Given the description of an element on the screen output the (x, y) to click on. 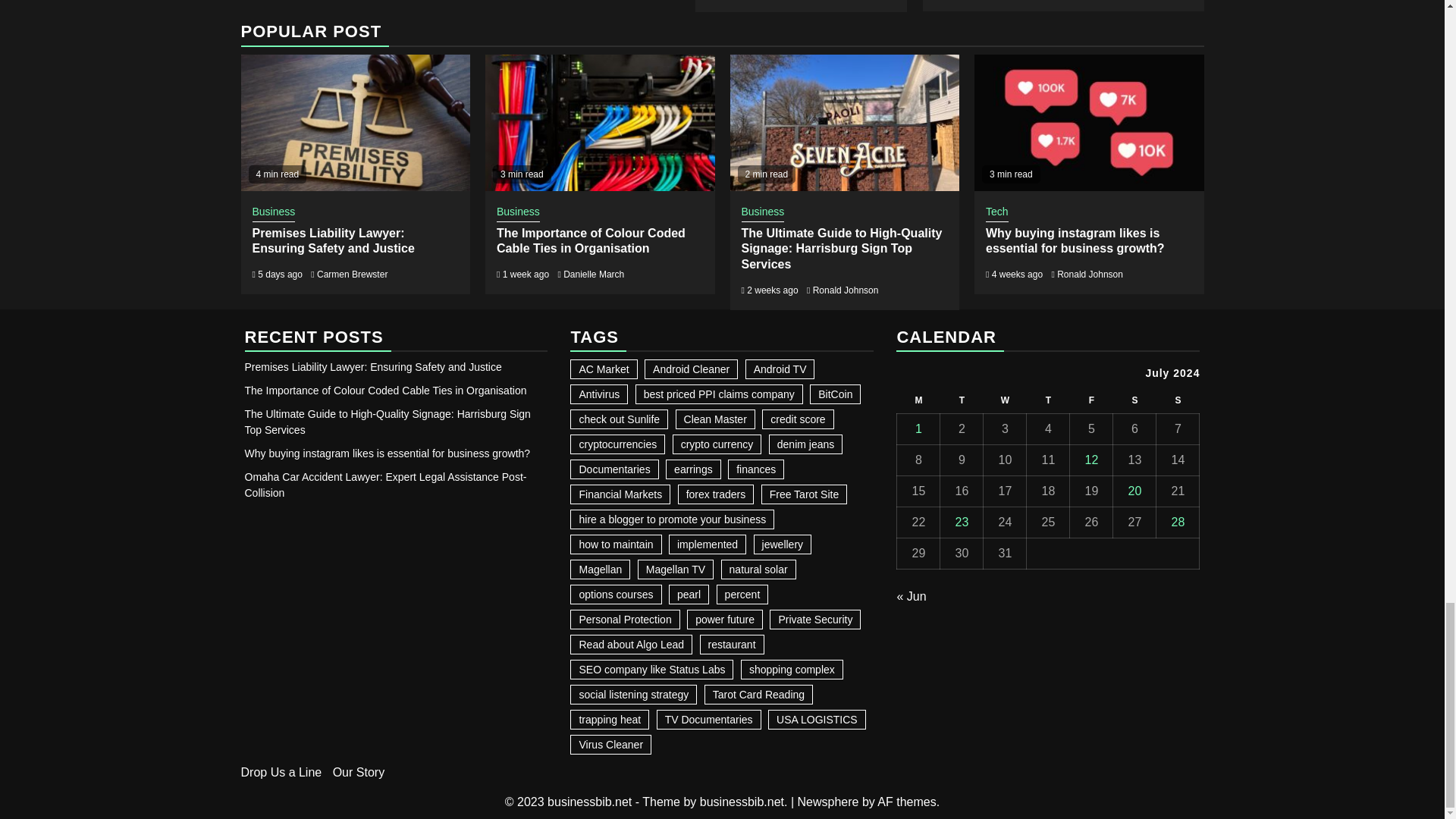
Wednesday (1005, 400)
Saturday (1134, 400)
Sunday (1177, 400)
Friday (1091, 400)
Tuesday (962, 400)
Monday (918, 400)
Thursday (1048, 400)
